Given the description of an element on the screen output the (x, y) to click on. 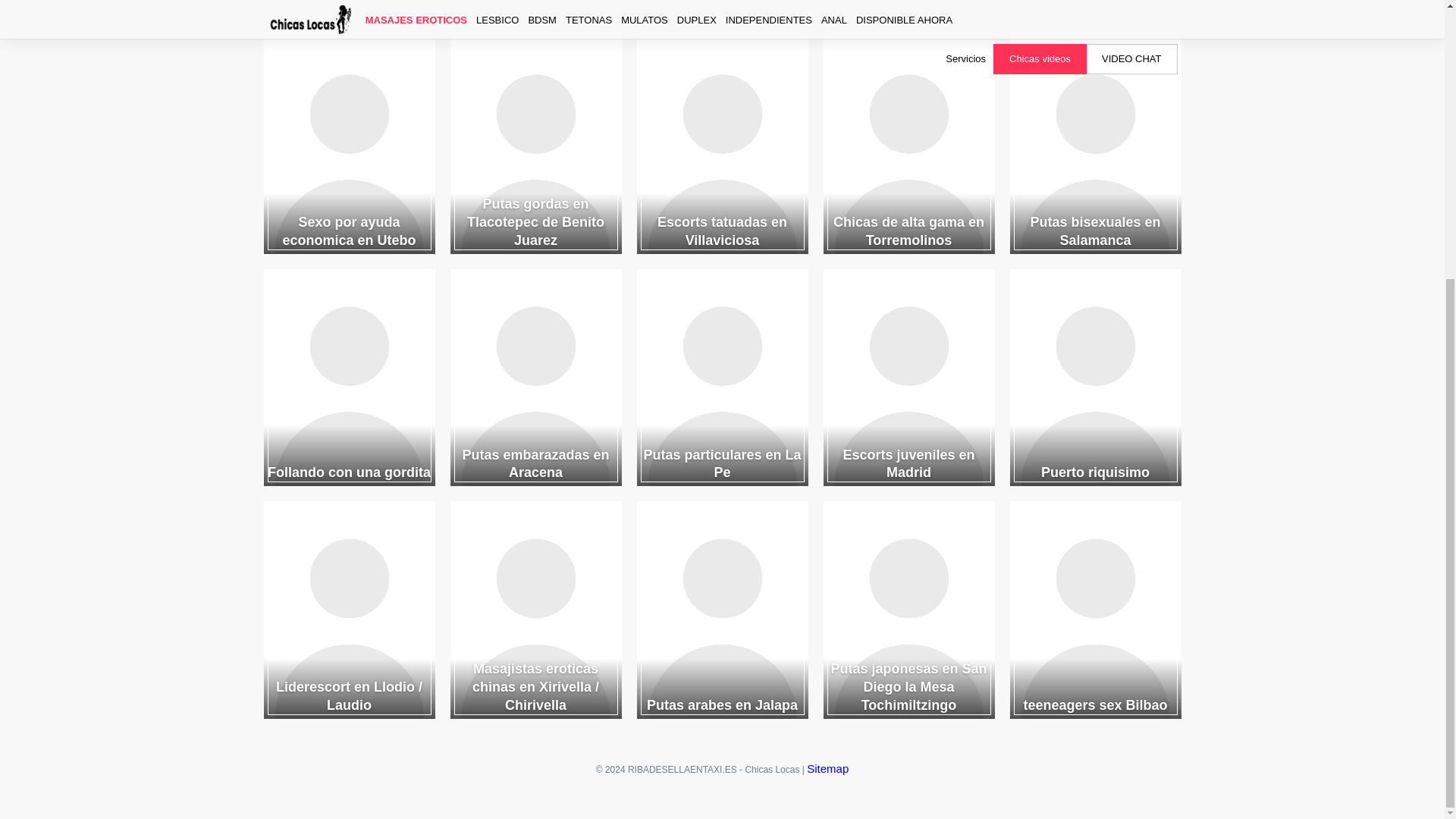
Mujeres putas en Ahuacuotzingo (722, 11)
Sitemap (827, 768)
chat de sexo gratuito Las Palmas de Gran Canaria (1095, 11)
sexos japonesa Alicante-Elche (909, 11)
Escort torredembarra (535, 11)
Contactos mujeres maduras en madrid (349, 11)
